Given the description of an element on the screen output the (x, y) to click on. 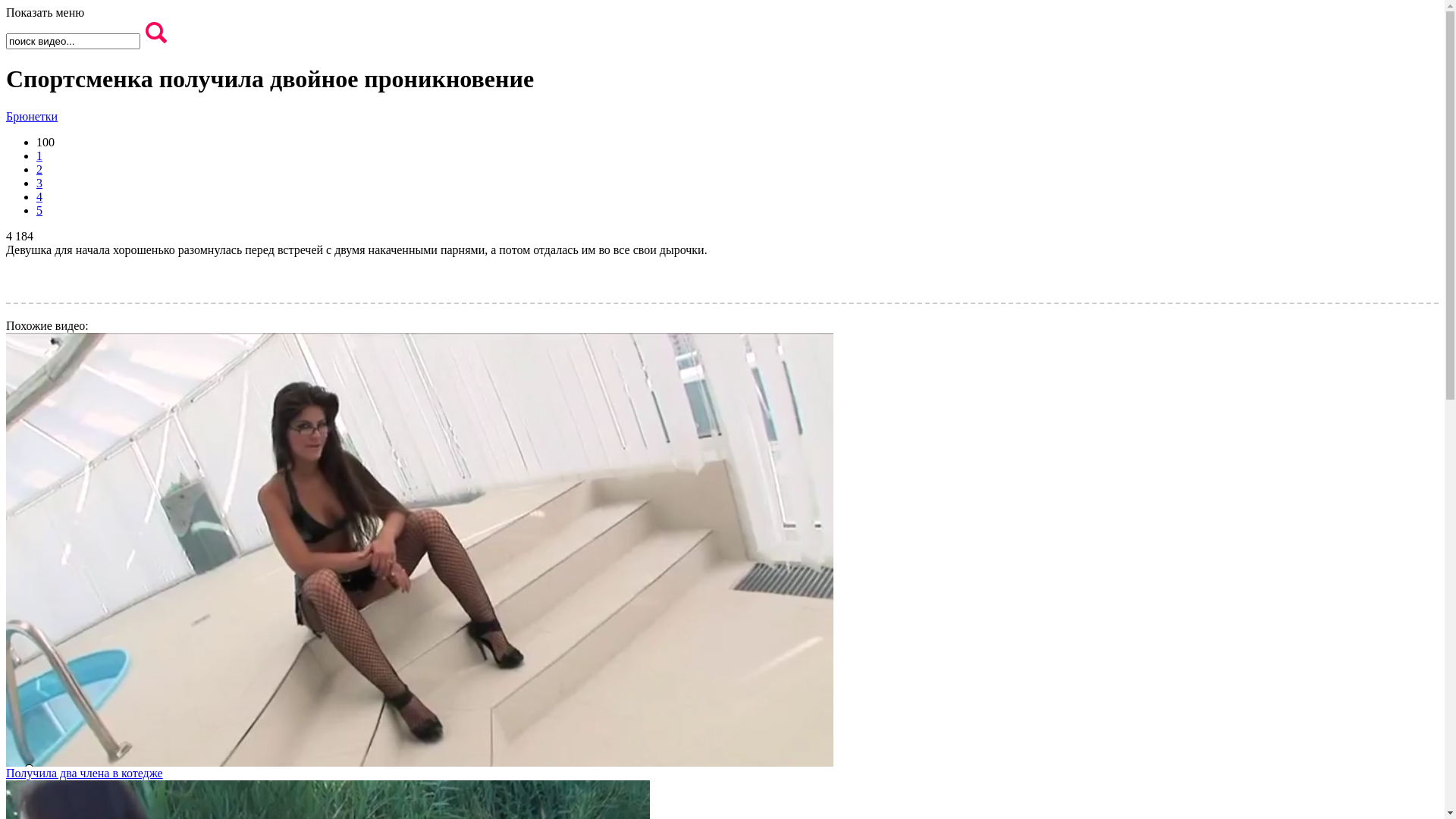
5 Element type: text (39, 209)
3 Element type: text (39, 182)
1 Element type: text (39, 155)
2 Element type: text (39, 169)
4 Element type: text (39, 196)
